Given the description of an element on the screen output the (x, y) to click on. 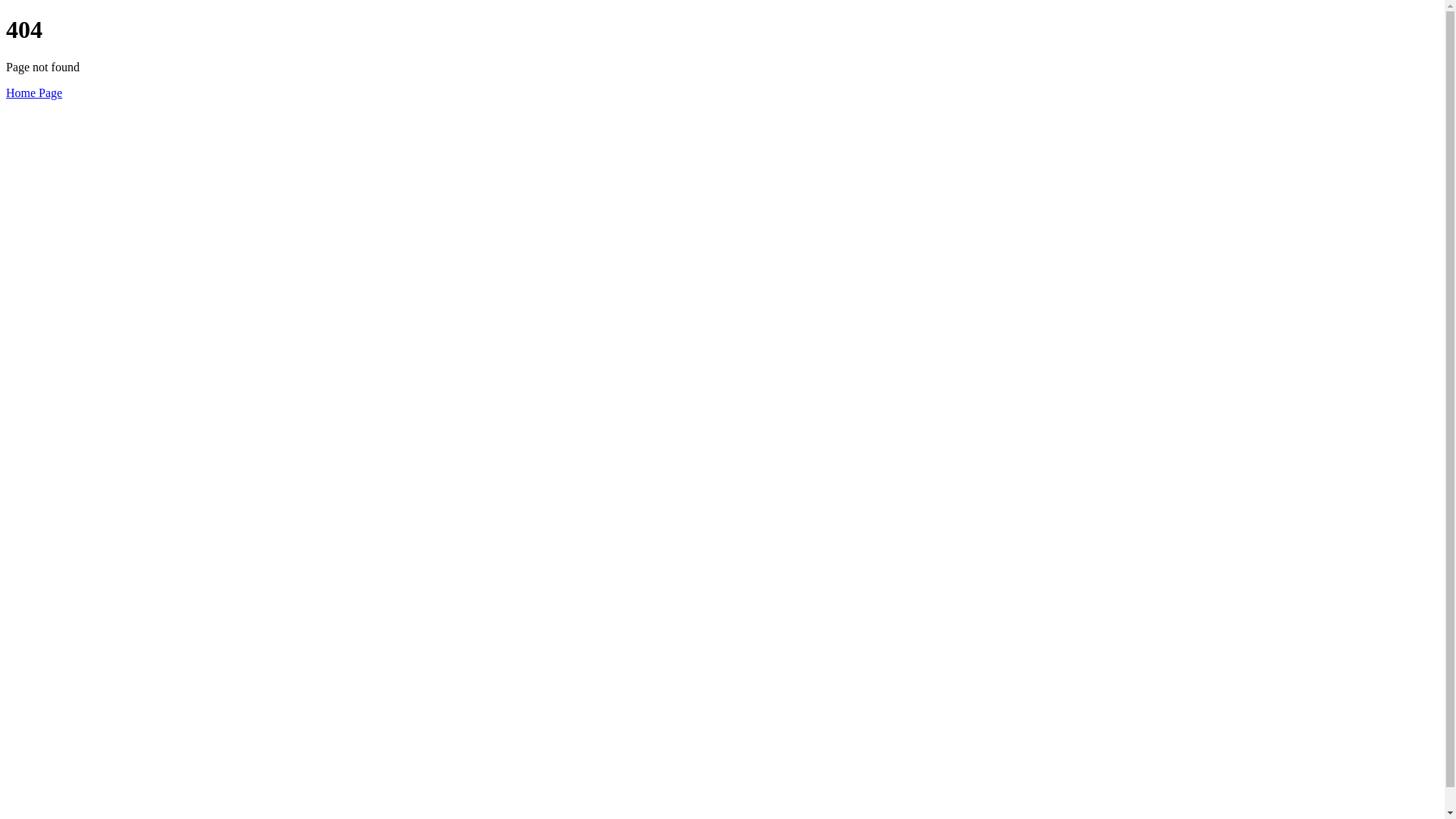
Home Page Element type: text (34, 92)
